Given the description of an element on the screen output the (x, y) to click on. 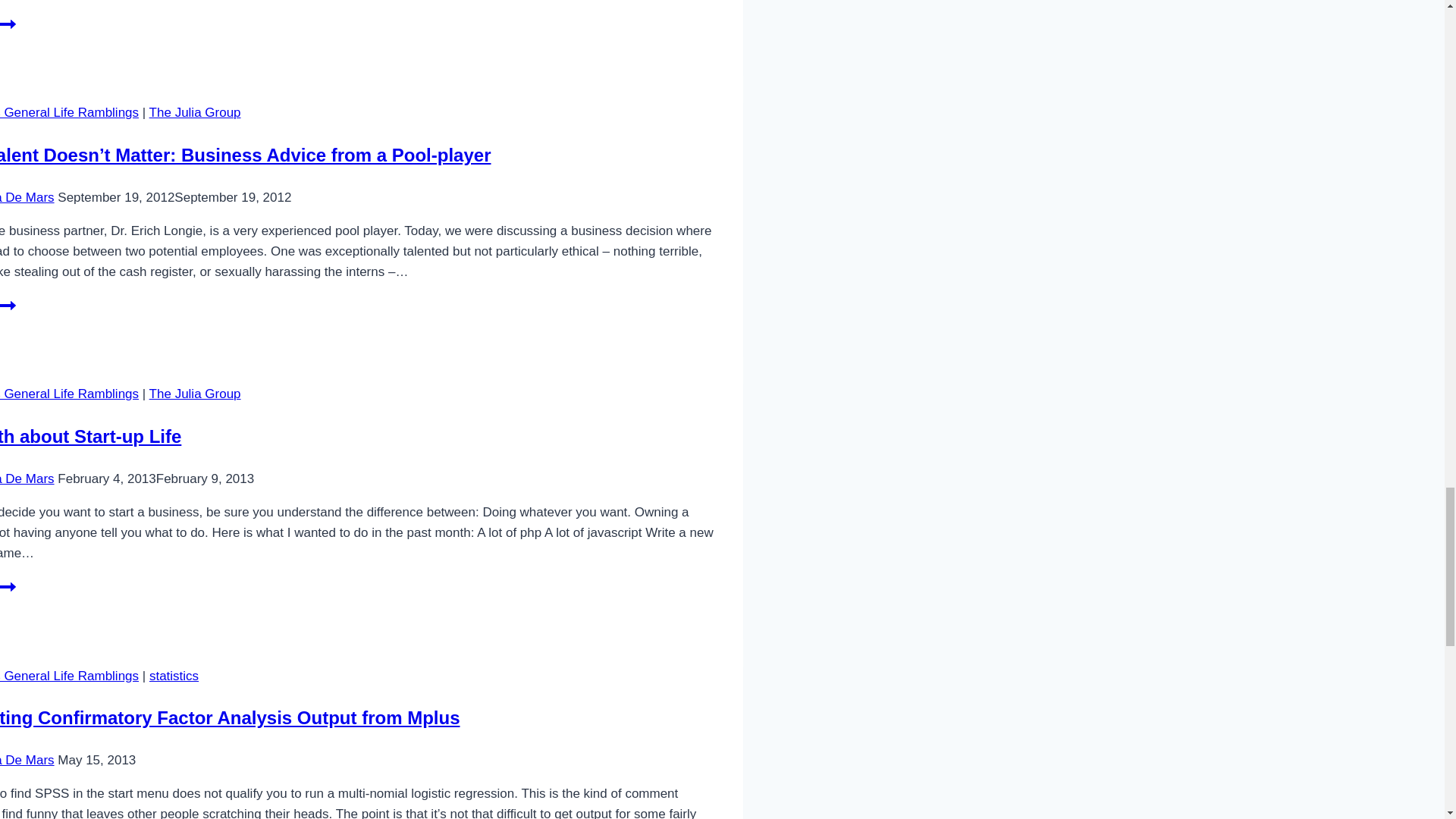
AnnMaria De Mars (27, 196)
AnnMaria De Mars (27, 478)
Dr. De Mars General Life Ramblings (8, 593)
Dr. De Mars General Life Ramblings (69, 393)
The Julia Group (69, 676)
The Julia Group (8, 30)
The Truth about Start-up Life (195, 393)
Dr. De Mars General Life Ramblings (195, 112)
